Given the description of an element on the screen output the (x, y) to click on. 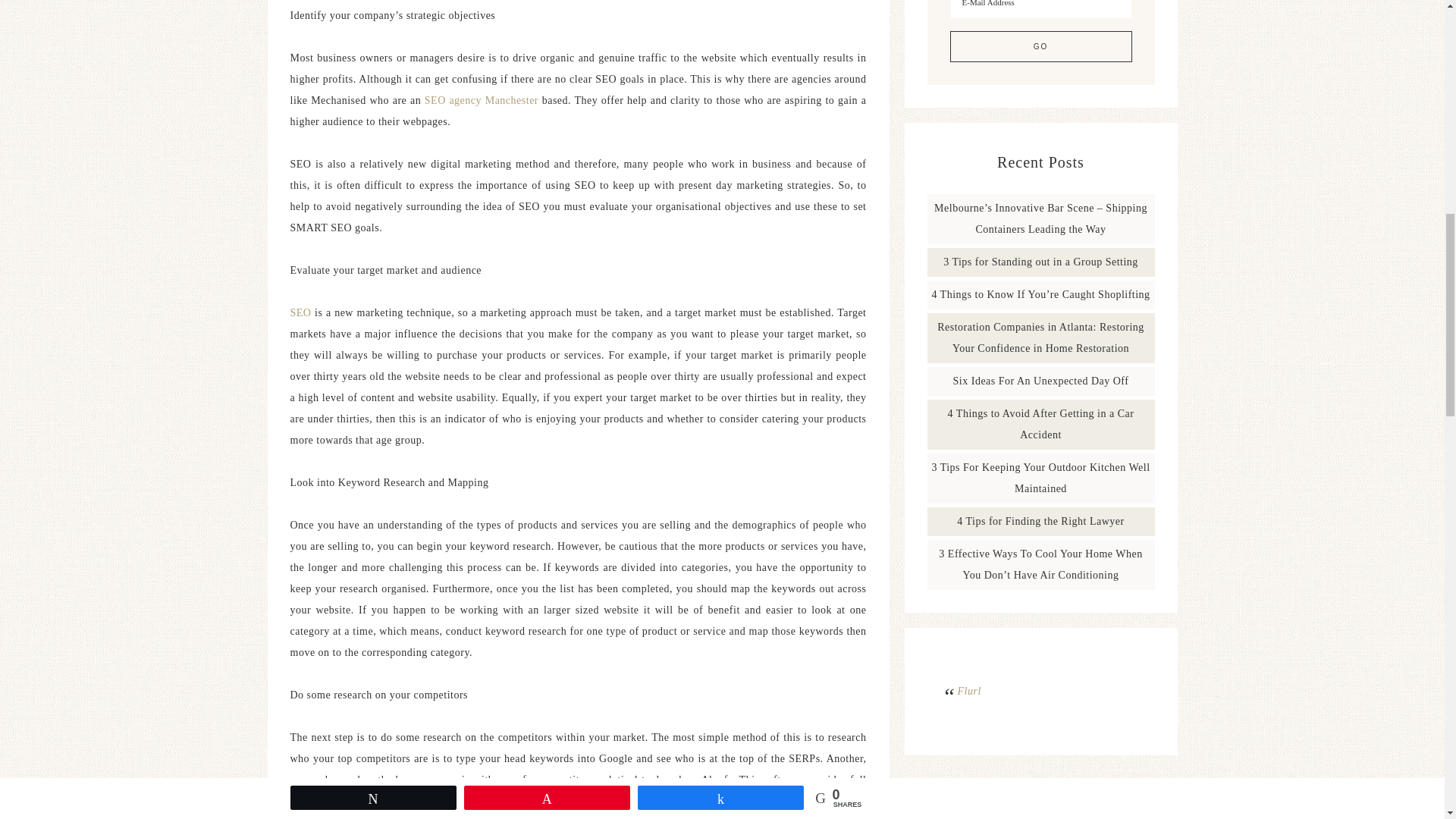
Go (1040, 46)
SEO agency Manchester (481, 100)
Go (1040, 46)
4 Things to Avoid After Getting in a Car Accident (1040, 423)
Flurl (967, 690)
Six Ideas For An Unexpected Day Off (1041, 380)
3 Tips for Standing out in a Group Setting (1040, 261)
4 Tips for Finding the Right Lawyer (1040, 521)
3 Tips For Keeping Your Outdoor Kitchen Well Maintained (1040, 477)
SEO (300, 312)
